Given the description of an element on the screen output the (x, y) to click on. 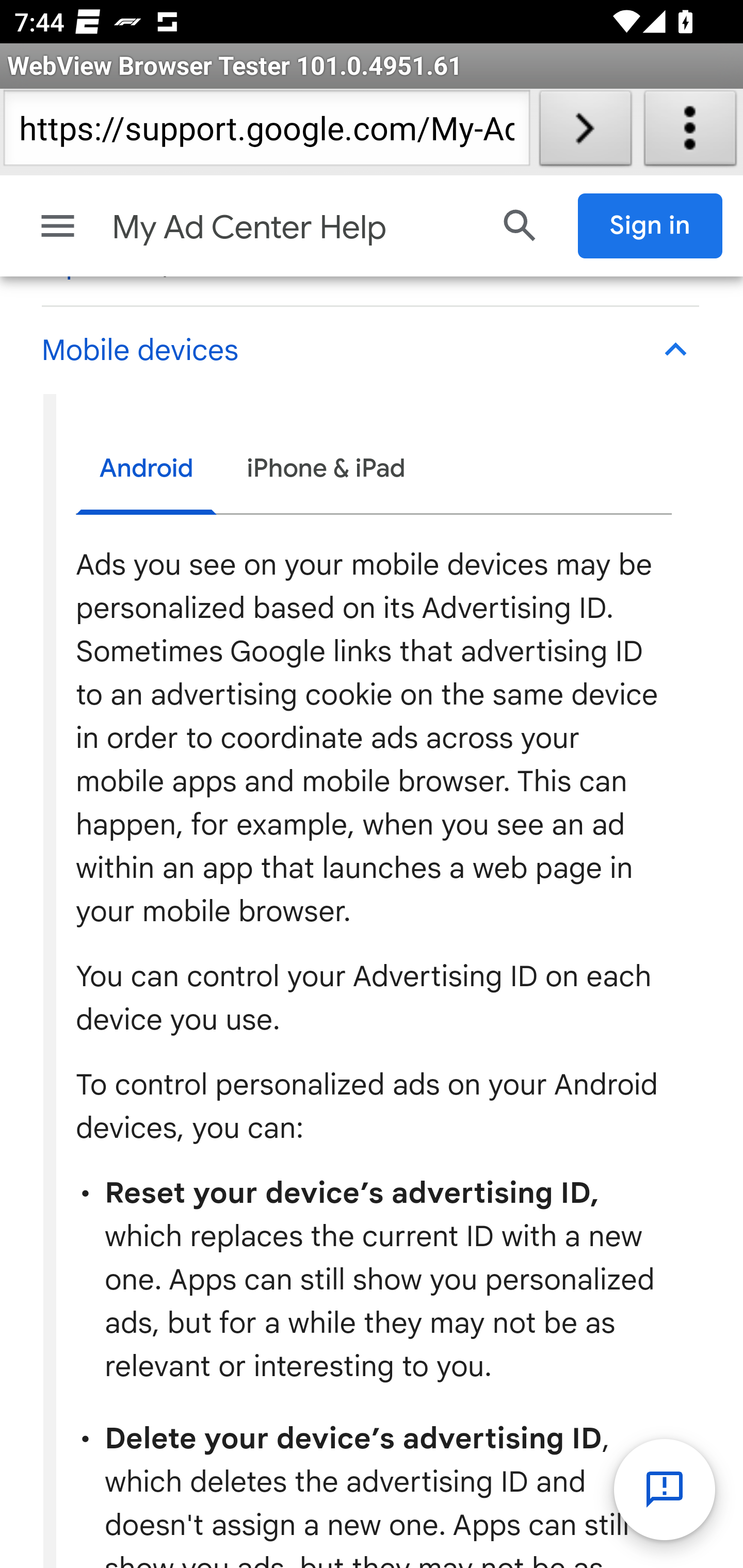
Load URL (585, 132)
About WebView (690, 132)
Main menu (58, 225)
My Ad Center Help (292, 226)
Search Help Center (519, 225)
Sign in (650, 225)
Mobile devices (369, 350)
Android (146, 469)
iPhone & iPad (325, 468)
